Given the description of an element on the screen output the (x, y) to click on. 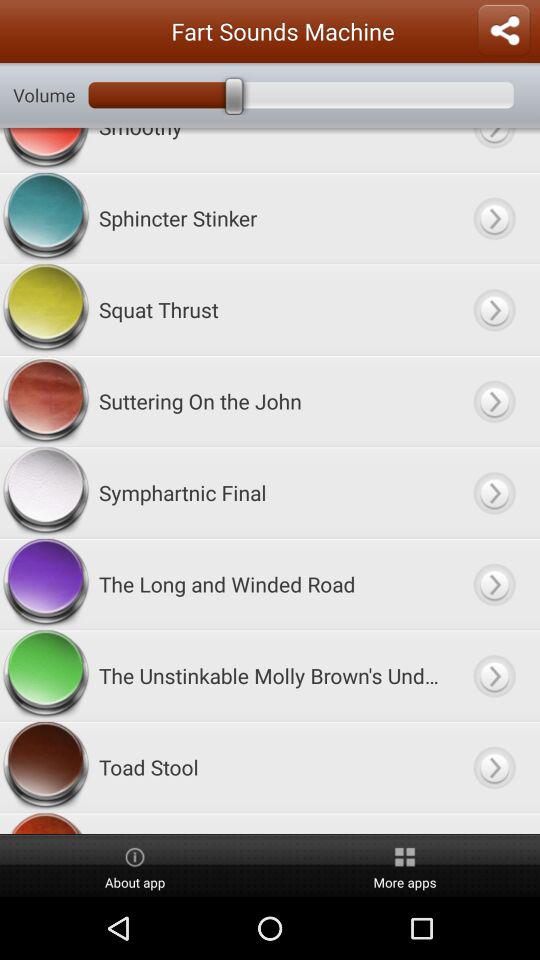
choose the squat thrust (269, 309)
